Given the description of an element on the screen output the (x, y) to click on. 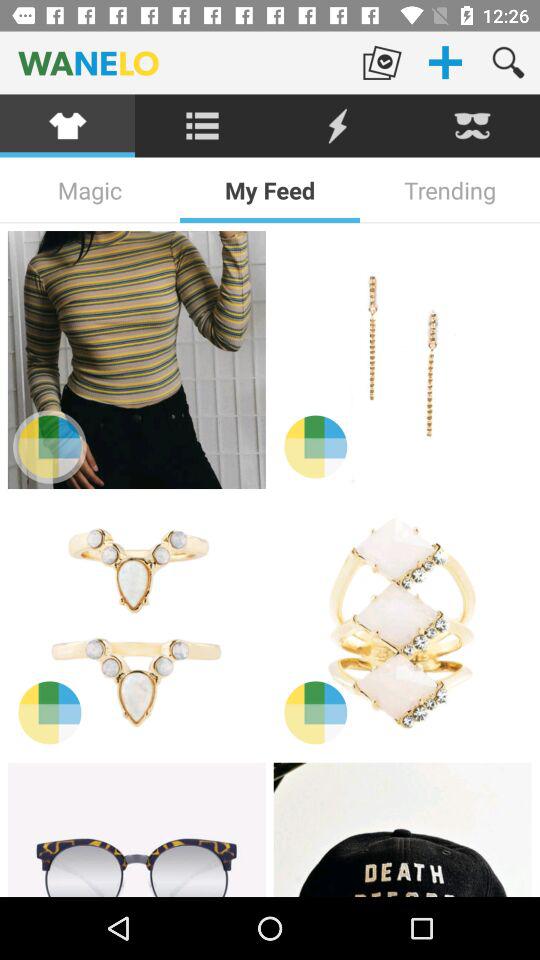
eyeglass (136, 829)
